Given the description of an element on the screen output the (x, y) to click on. 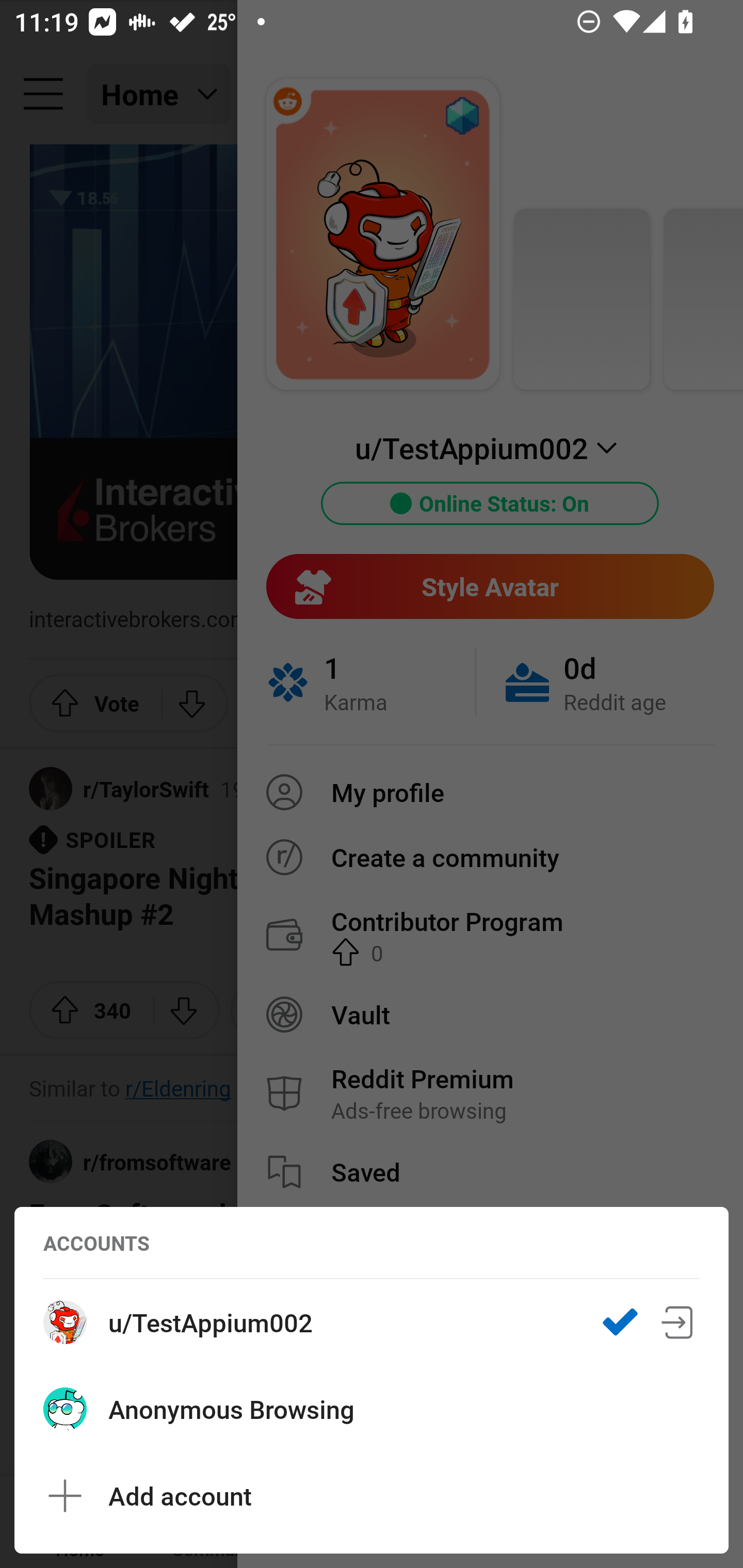
Custom avatar u/TestAppium002 Remove account (371, 1322)
Remove account (677, 1322)
Avatar Anonymous Browsing (371, 1408)
Avatar Add account (371, 1495)
